Given the description of an element on the screen output the (x, y) to click on. 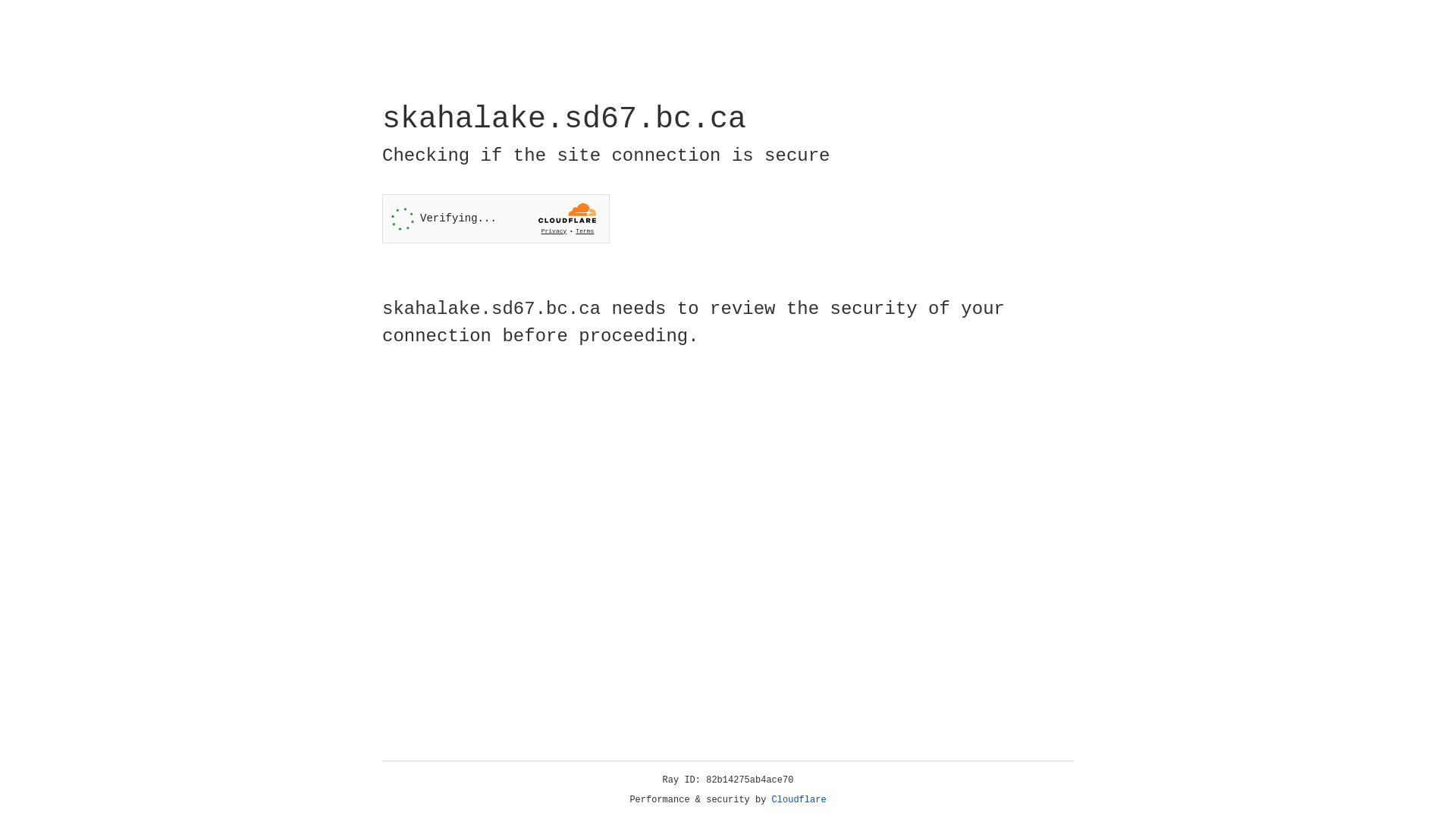
Widget containing a Cloudflare security challenge Element type: hover (495, 218)
Cloudflare Element type: text (798, 799)
